Given the description of an element on the screen output the (x, y) to click on. 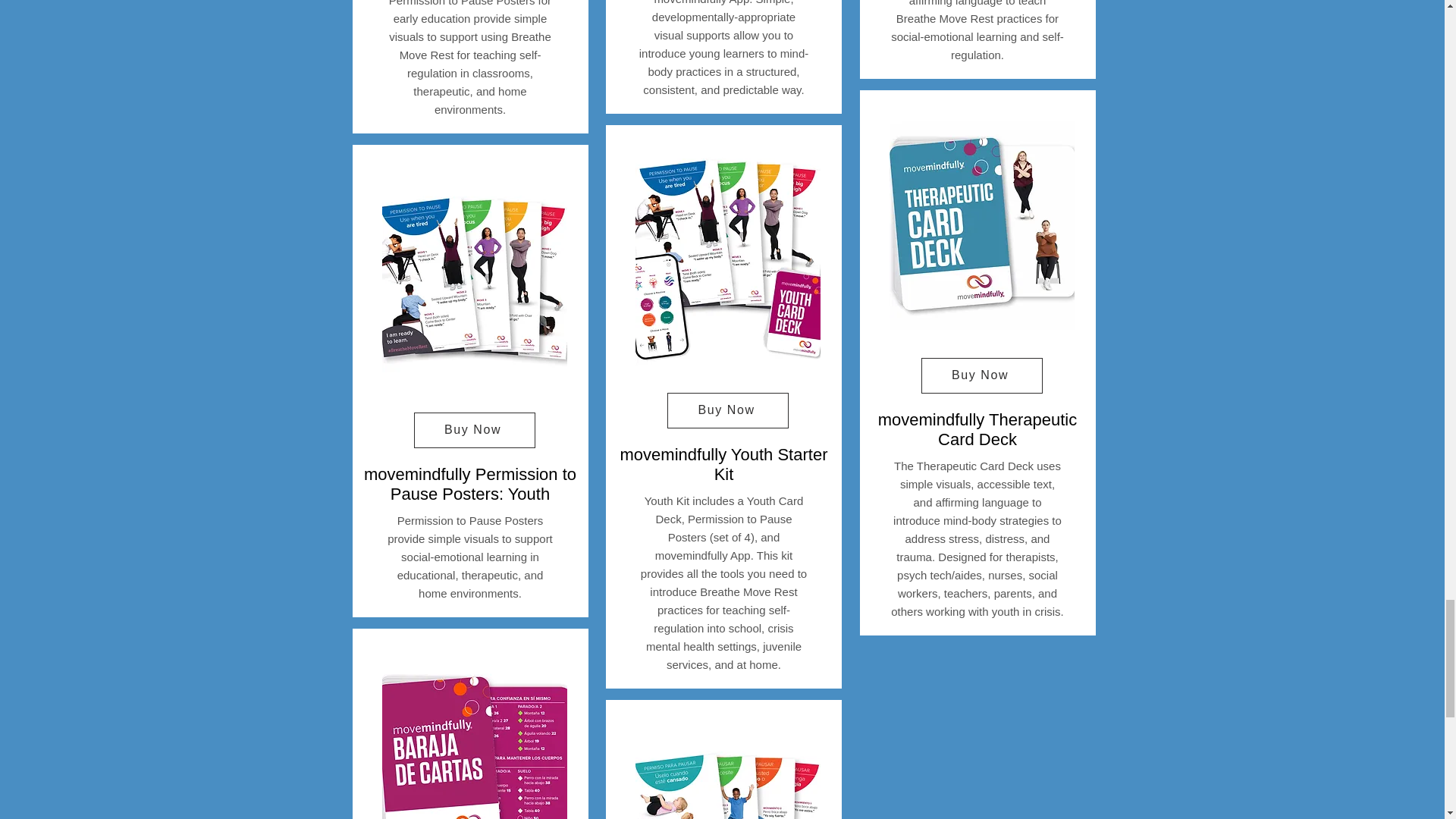
Buy Now (474, 429)
MM-Card-Deck-Spanish.jpg (474, 734)
MM-Posters-Early-Childhood-Spanish.jpg (727, 770)
